Given the description of an element on the screen output the (x, y) to click on. 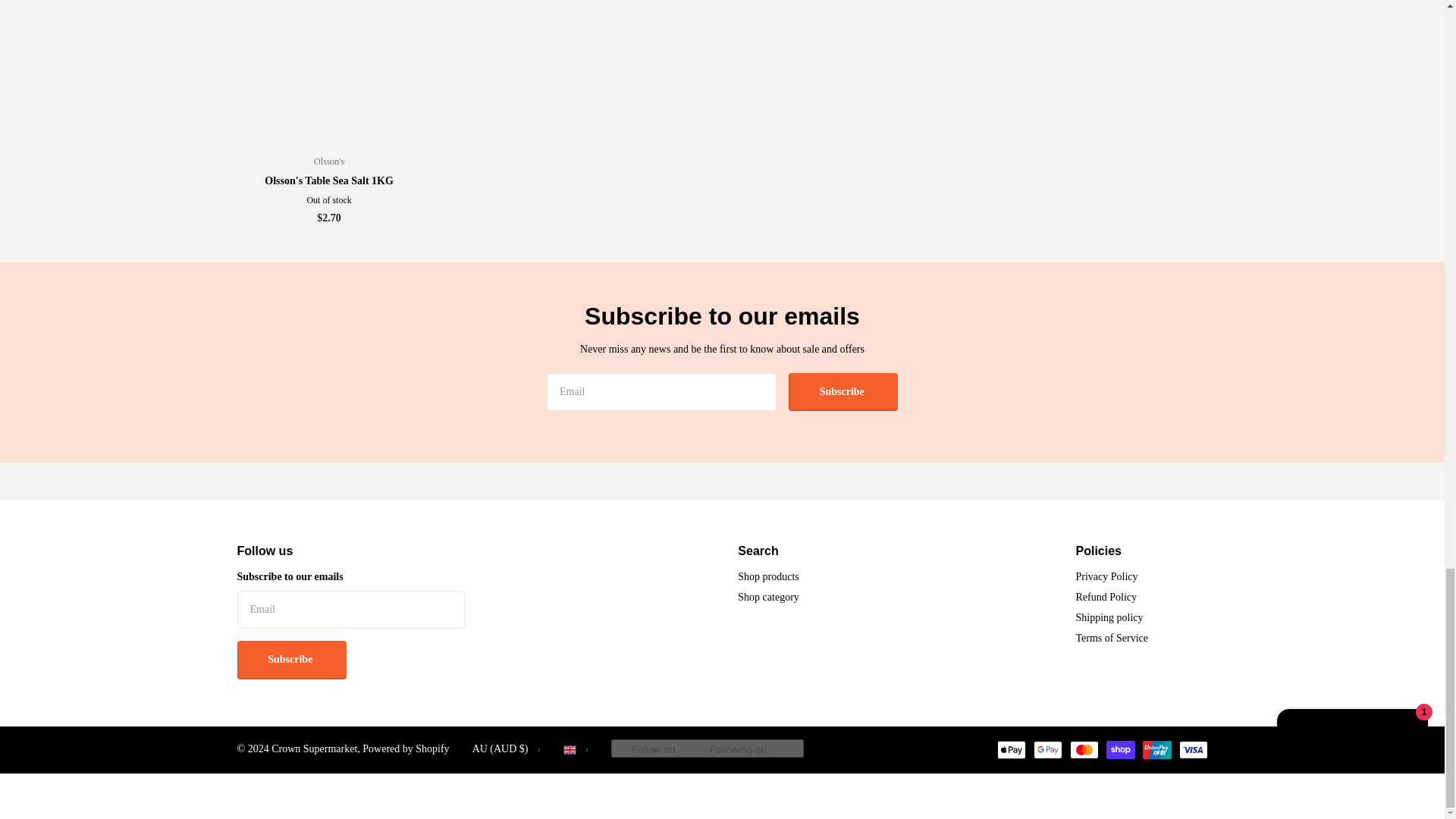
Shipping policy (1108, 617)
Shop Pay (1119, 750)
Shop category (767, 596)
Google Pay (1046, 750)
Apple Pay (1010, 750)
Refund Policy (1106, 596)
Union Pay (1155, 750)
Mastercard (1082, 750)
Visa (1192, 750)
Shop products (768, 576)
Privacy Policy (1106, 576)
Terms of Service (1111, 637)
